Given the description of an element on the screen output the (x, y) to click on. 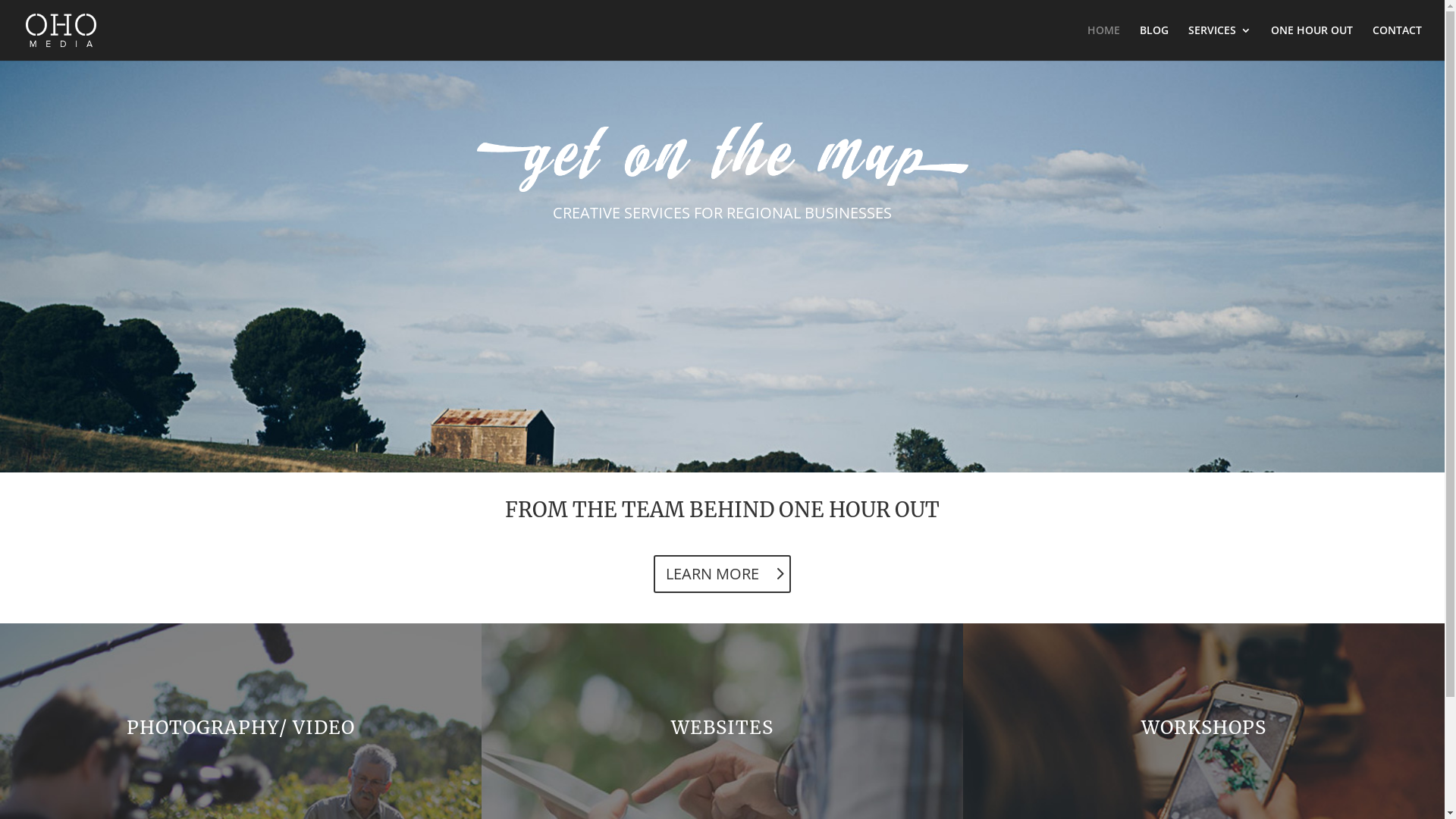
LEARN MORE Element type: text (721, 574)
ONE HOUR OUT Element type: text (1311, 42)
ONE HOUR OUT Element type: text (858, 509)
HOME Element type: text (1103, 42)
PHOTOGRAPHY/ VIDEO Element type: text (240, 727)
WORKSHOPS Element type: text (1203, 727)
CONTACT Element type: text (1396, 42)
BLOG Element type: text (1153, 42)
SERVICES Element type: text (1219, 42)
WEBSITES Element type: text (722, 727)
